Given the description of an element on the screen output the (x, y) to click on. 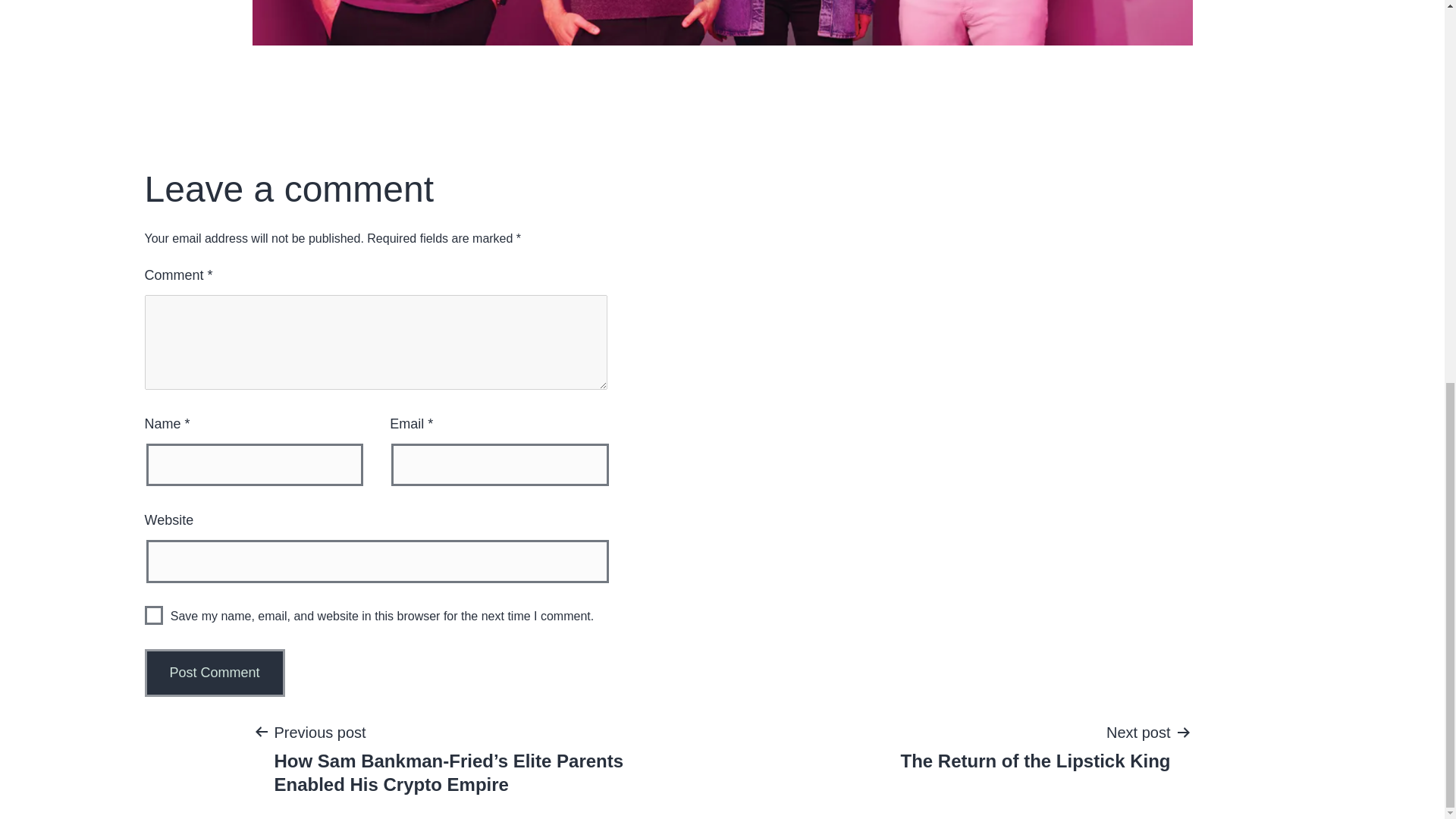
Post Comment (213, 672)
yes (1034, 746)
Post Comment (152, 615)
